Given the description of an element on the screen output the (x, y) to click on. 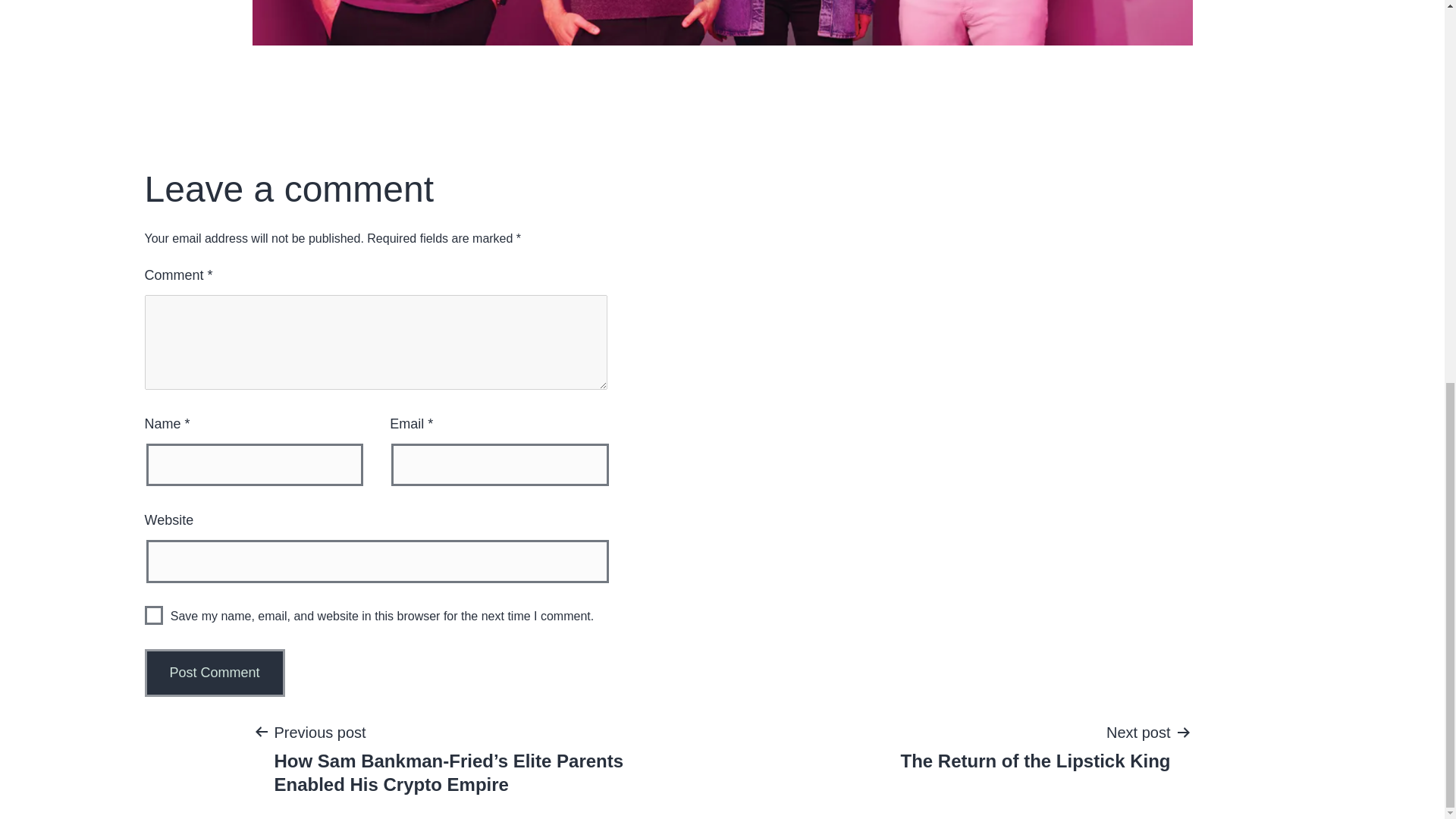
Post Comment (213, 672)
yes (1034, 746)
Post Comment (152, 615)
